Given the description of an element on the screen output the (x, y) to click on. 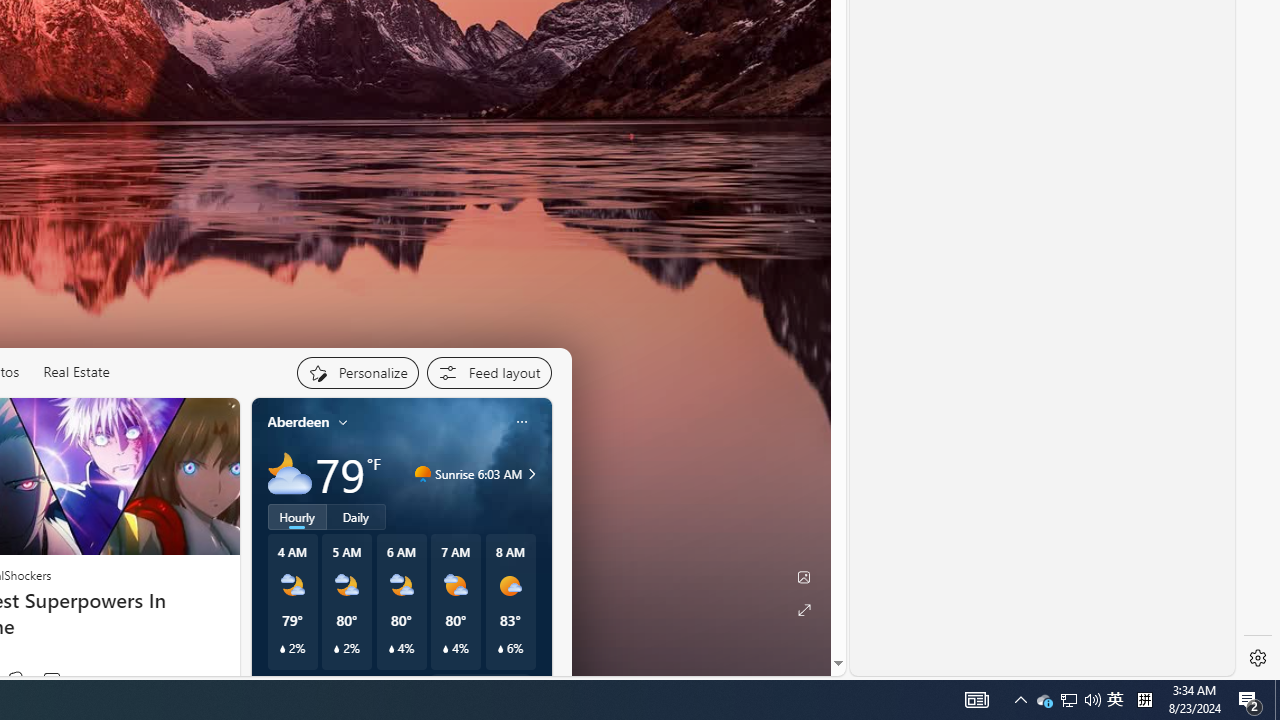
Class: weather-current-precipitation-glyph (500, 649)
Daily (356, 516)
Feed settings (488, 372)
My location (343, 421)
Mostly cloudy (289, 474)
